Given the description of an element on the screen output the (x, y) to click on. 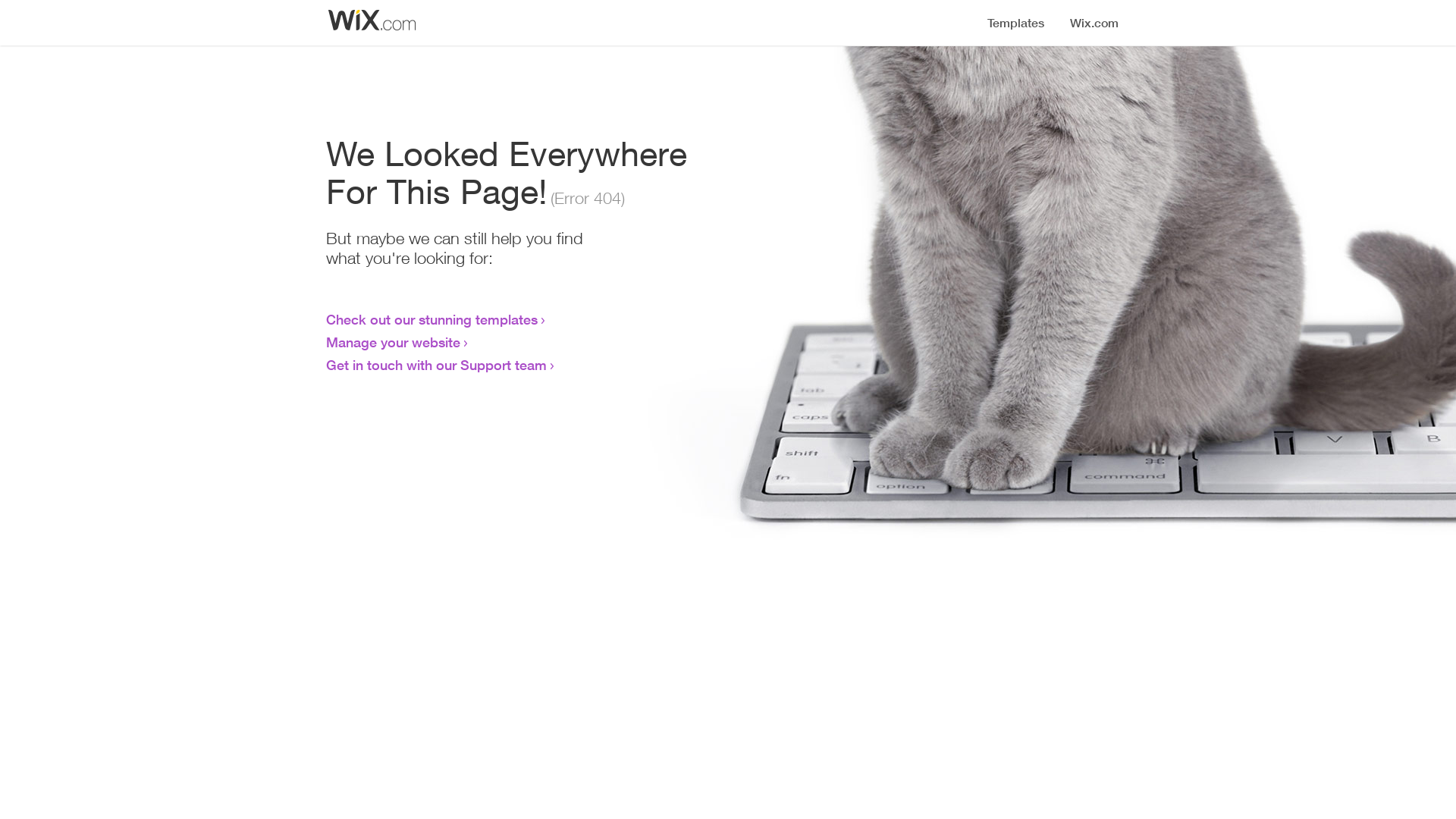
Check out our stunning templates Element type: text (431, 318)
Manage your website Element type: text (393, 341)
Get in touch with our Support team Element type: text (436, 364)
